Given the description of an element on the screen output the (x, y) to click on. 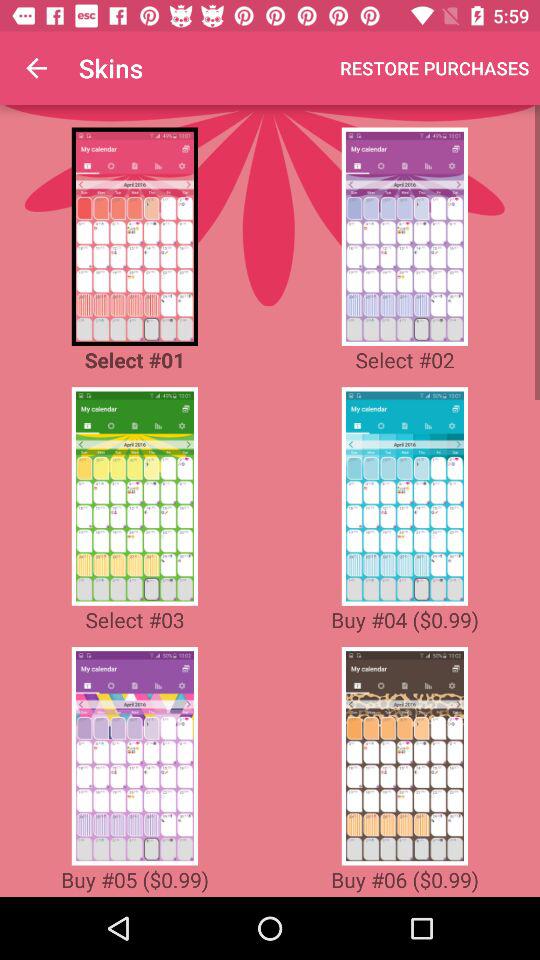
go to previous (134, 756)
